Given the description of an element on the screen output the (x, y) to click on. 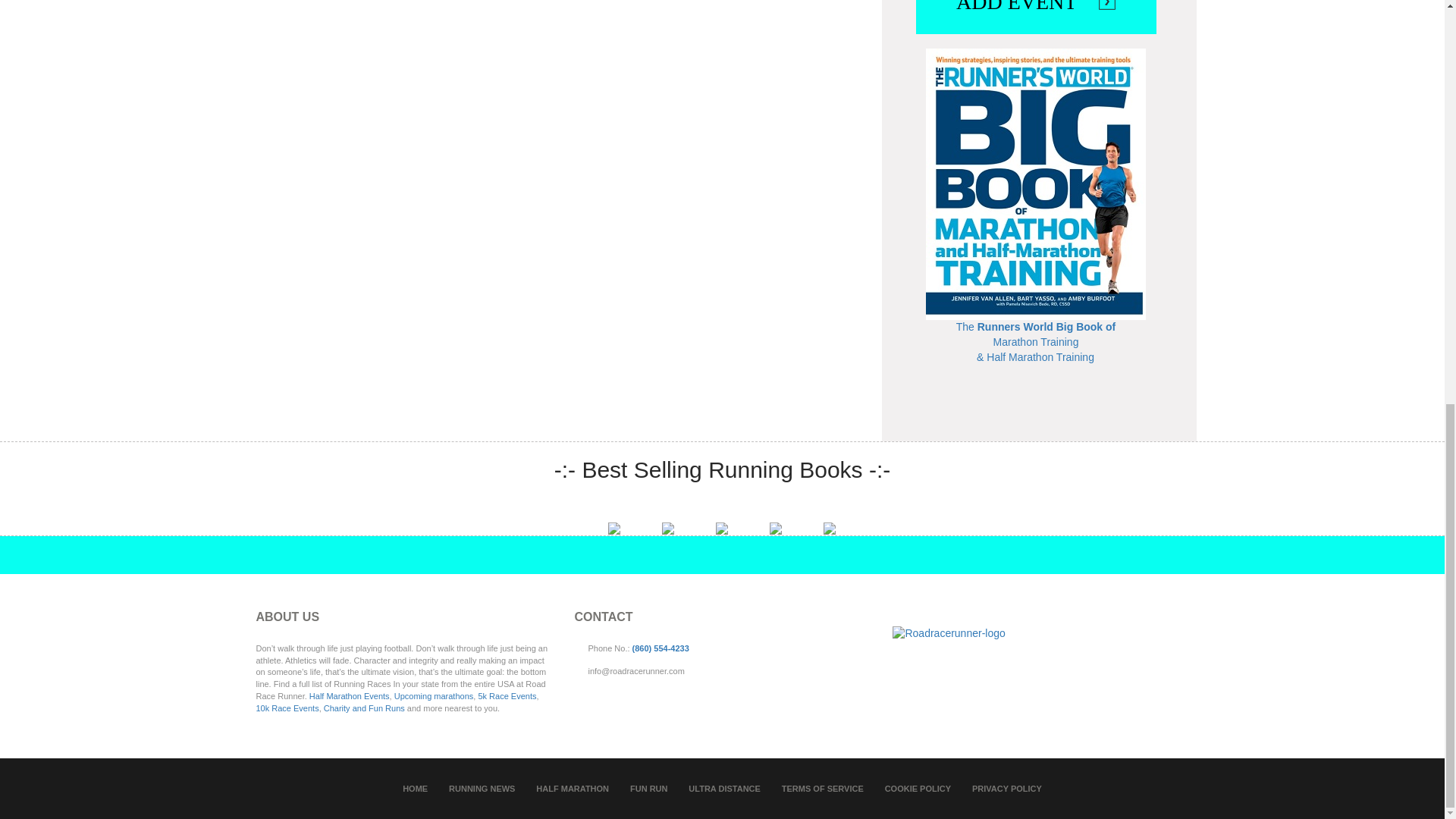
HALF MARATHON (571, 788)
HOME (415, 788)
10k Race Events (287, 706)
Charity and Fun Runs (363, 706)
ULTRA DISTANCE (724, 788)
5k Race Events (506, 696)
Half Marathon Events (349, 696)
tel:8605544233 (659, 647)
ADD EVENT (1035, 8)
TERMS OF SERVICE (822, 788)
RUNNING NEWS (481, 788)
Upcoming marathons (434, 696)
FUN RUN (649, 788)
